Given the description of an element on the screen output the (x, y) to click on. 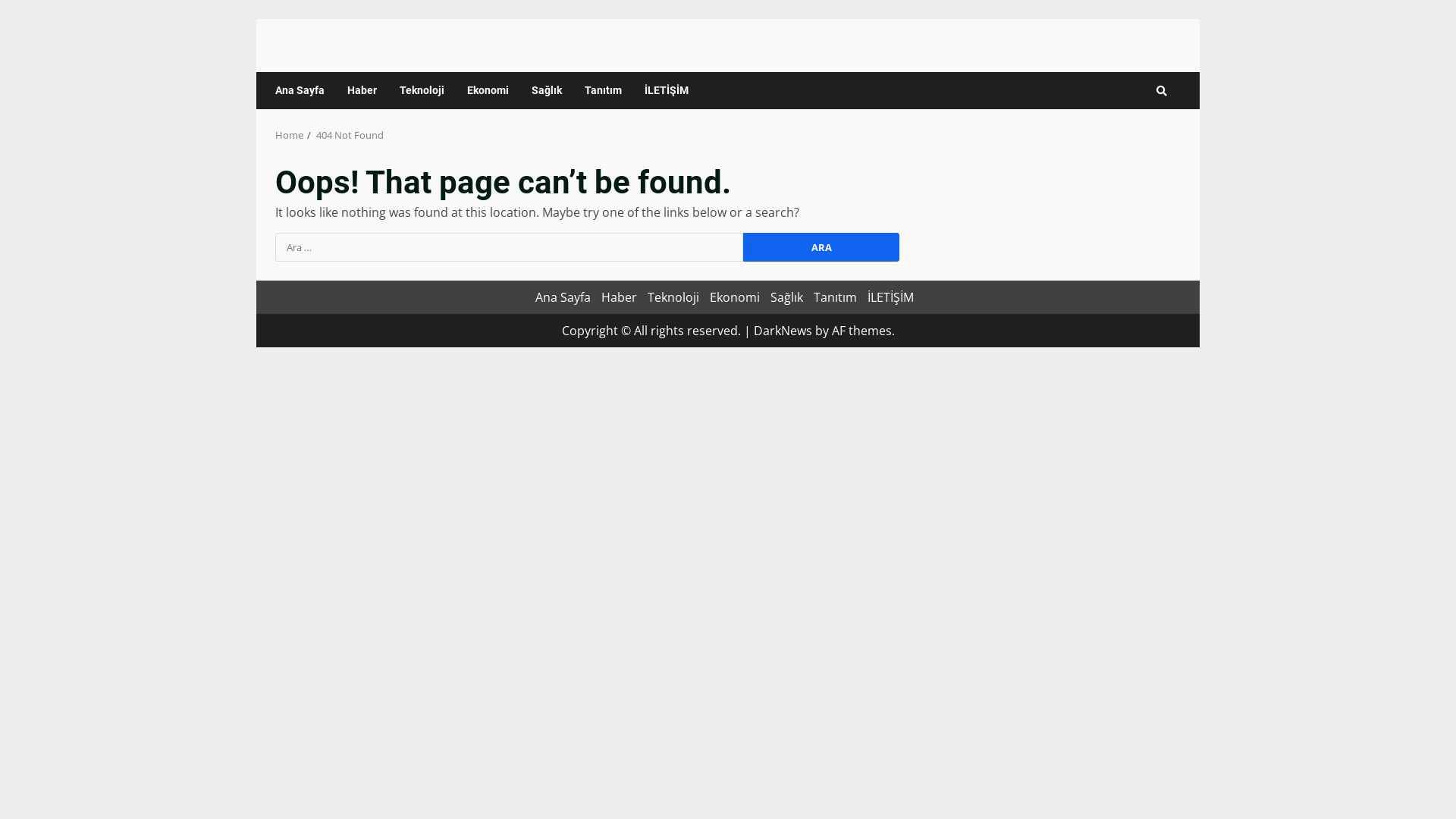
Teknoloji Element type: text (673, 296)
Home Element type: text (289, 134)
404 Not Found Element type: text (349, 134)
Haber Element type: text (618, 296)
Ara Element type: text (821, 246)
Ana Sayfa Element type: text (305, 90)
Ekonomi Element type: text (734, 296)
Ara Element type: text (1134, 136)
Haber Element type: text (361, 90)
DarkNews Element type: text (782, 330)
Search Element type: hover (1161, 89)
Skip to content Element type: text (255, 18)
Teknoloji Element type: text (421, 90)
Ana Sayfa Element type: text (562, 296)
Ekonomi Element type: text (487, 90)
